Given the description of an element on the screen output the (x, y) to click on. 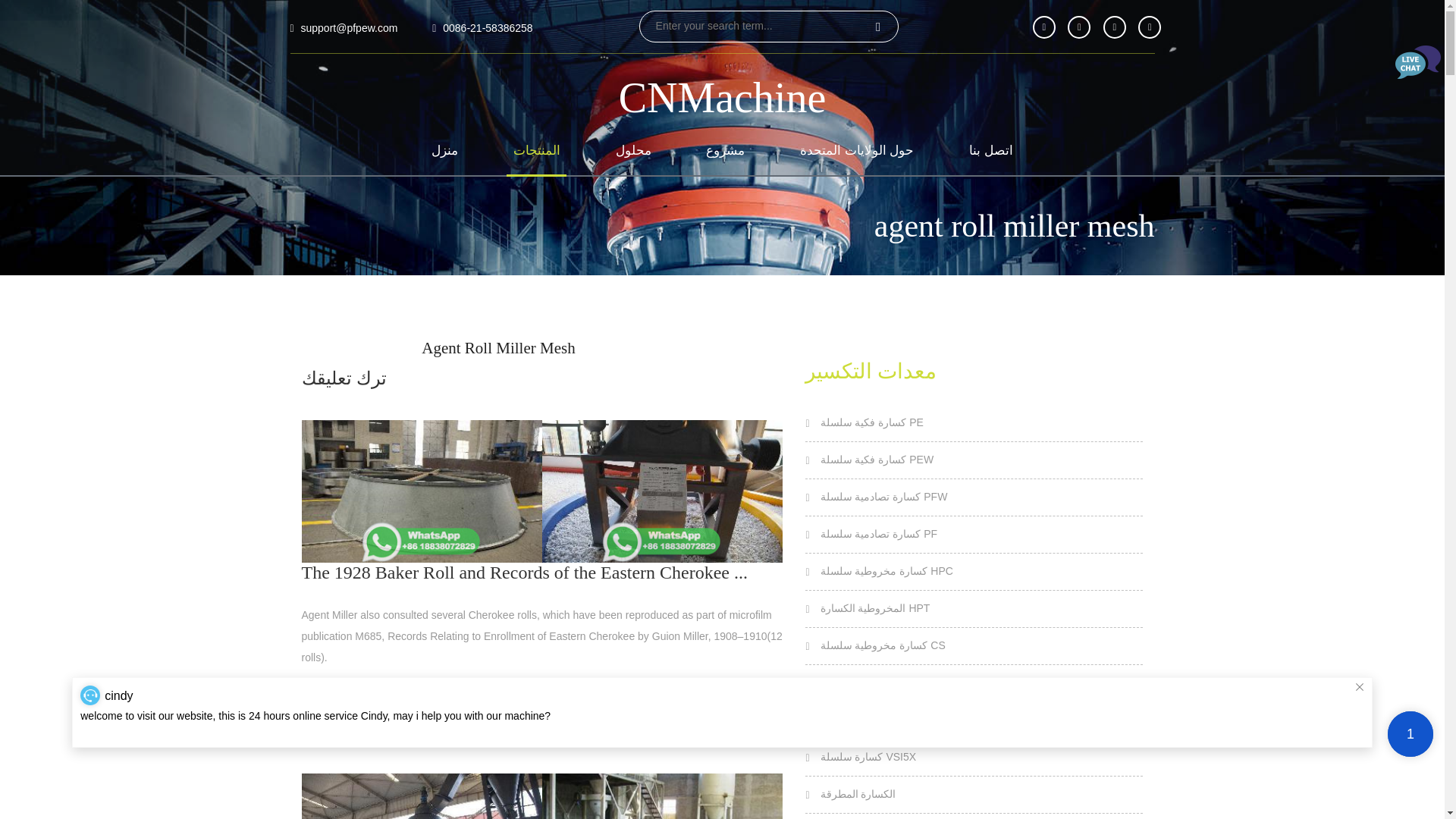
CNMachine (722, 98)
